Given the description of an element on the screen output the (x, y) to click on. 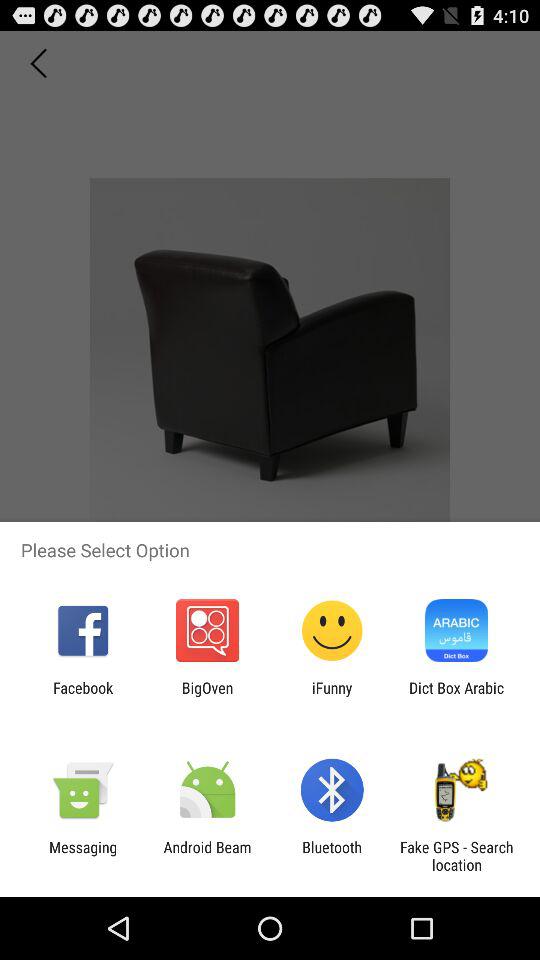
turn off the android beam icon (207, 856)
